Given the description of an element on the screen output the (x, y) to click on. 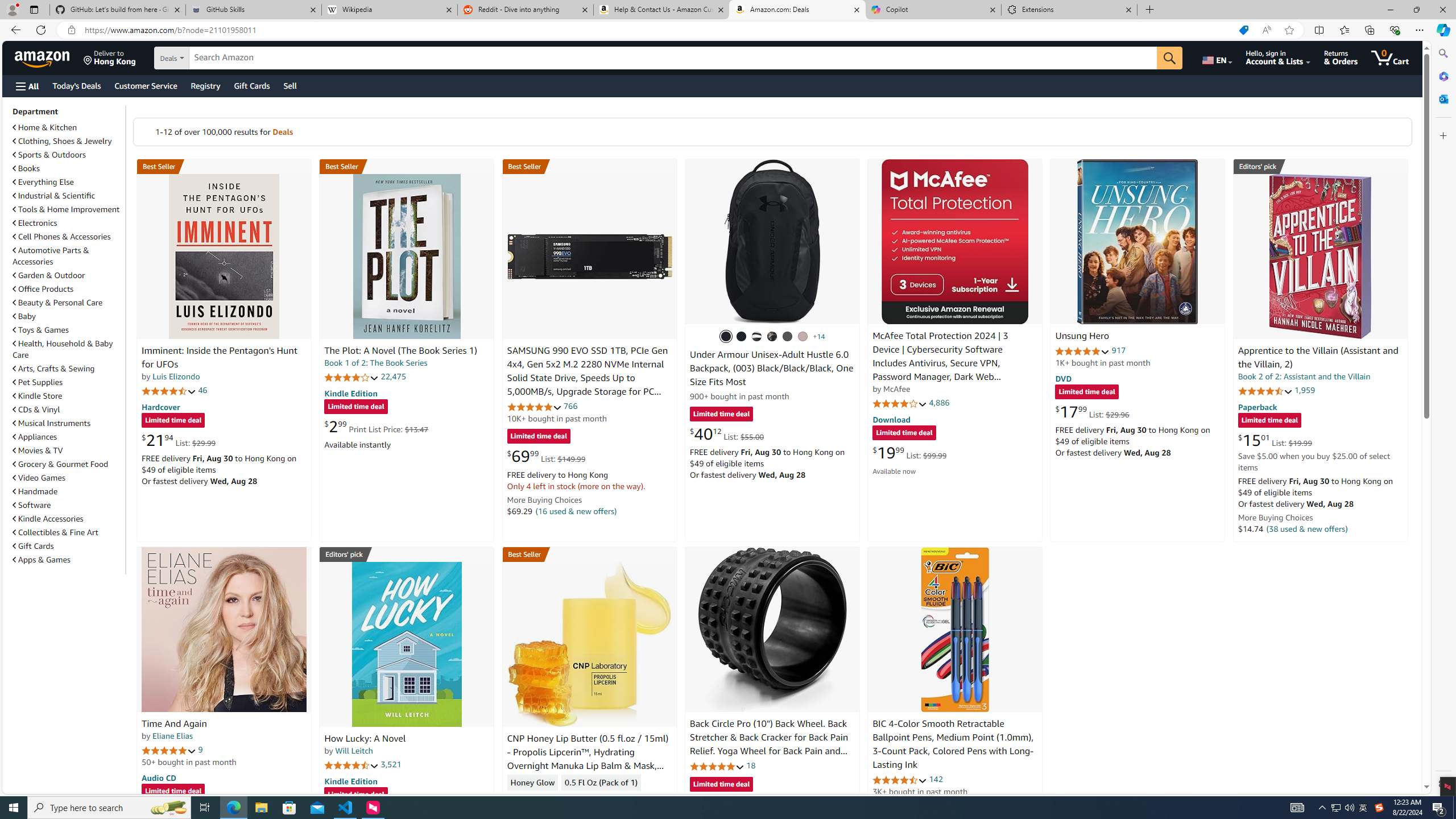
Software (67, 505)
$69.99 List: $149.99 (545, 455)
Clothing, Shoes & Jewelry (62, 140)
Editors' pick Best Science Fiction & Fantasy (1320, 165)
Audio CD (158, 777)
Grocery & Gourmet Food (61, 463)
Apprentice to the Villain (Assistant and the Villain, 2) (1319, 256)
$19.99 List: $99.99 (909, 452)
Kindle Store (37, 395)
Toys & Games (67, 329)
Apps & Games (67, 559)
Video Games (67, 477)
Movies & TV (37, 450)
